Given the description of an element on the screen output the (x, y) to click on. 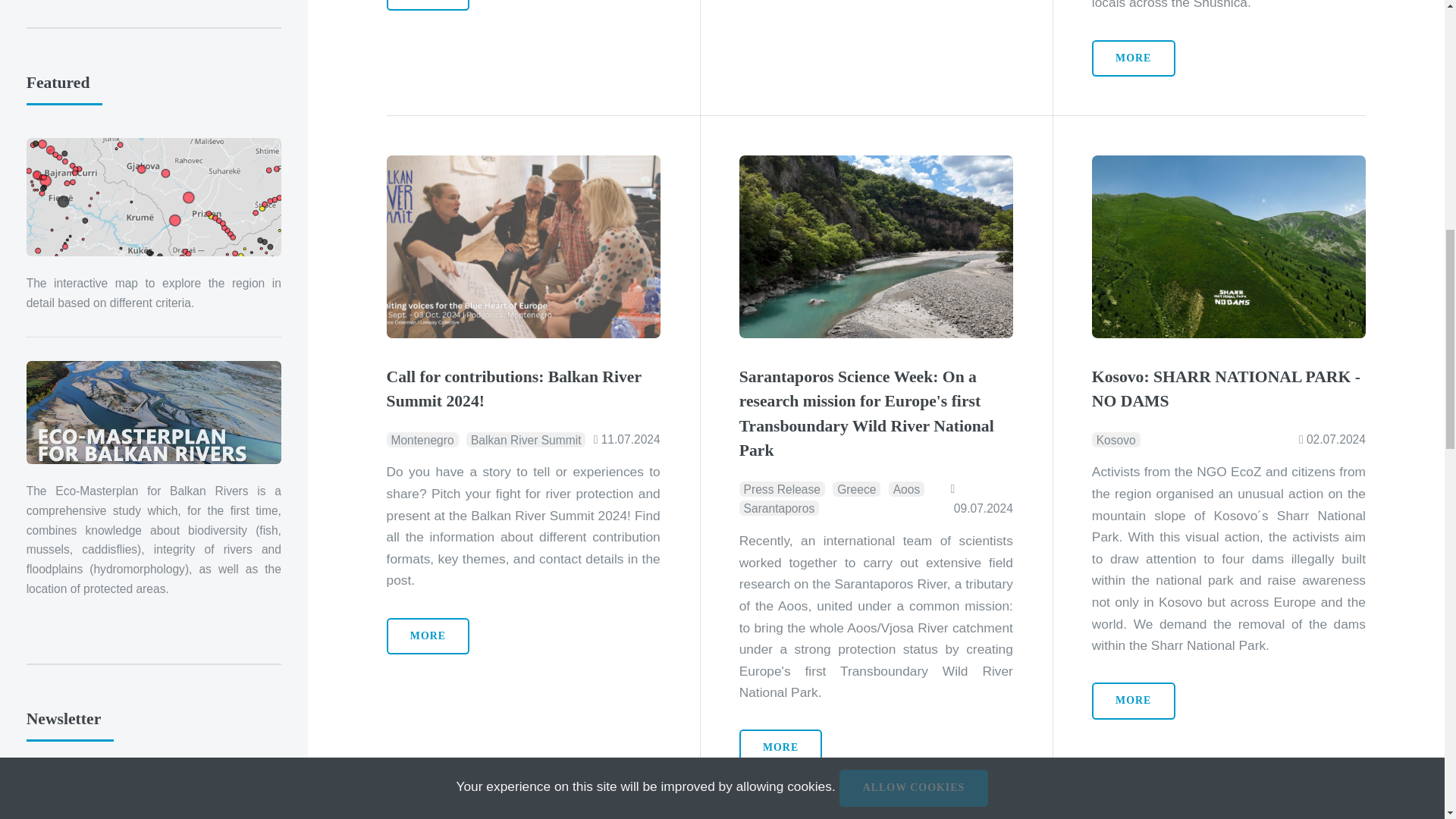
MORE (428, 5)
MORE (1133, 700)
Montenegro (422, 439)
indicates required (153, 783)
Balkan River Summit (525, 439)
Sarantaporos (778, 507)
Aoos (906, 488)
MORE (1133, 58)
MORE (428, 636)
Press Release (782, 488)
